Given the description of an element on the screen output the (x, y) to click on. 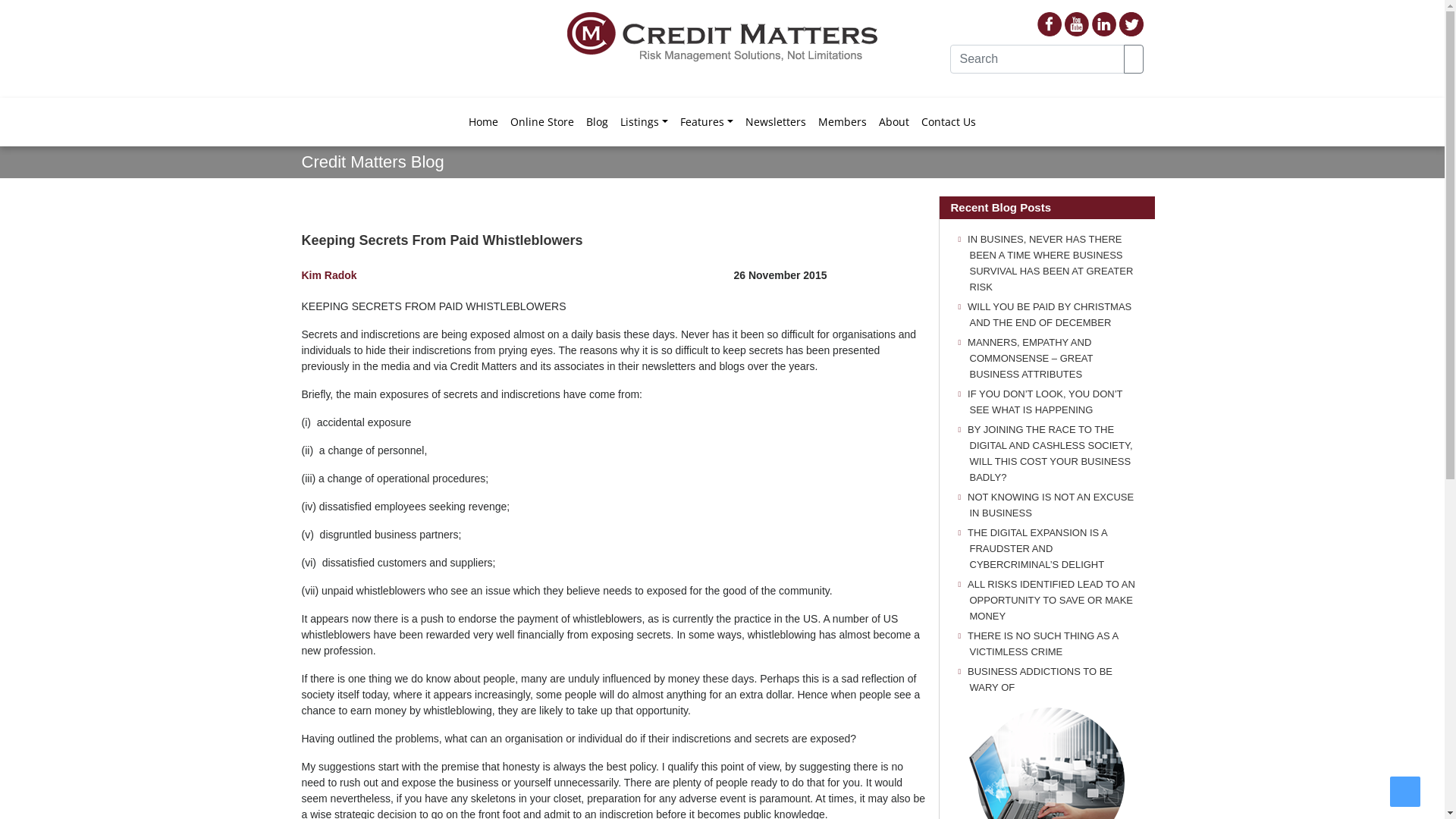
BUSINESS ADDICTIONS TO BE WARY OF Element type: text (1039, 679)
Blog Element type: text (597, 121)
About Element type: text (893, 121)
Newsletters Element type: text (775, 121)
THERE IS NO SUCH THING AS A VICTIMLESS CRIME Element type: text (1042, 643)
WILL YOU BE PAID BY CHRISTMAS AND THE END OF DECEMBER Element type: text (1049, 314)
Contact Us Element type: text (948, 121)
Members Element type: text (842, 121)
Online Store Element type: text (542, 121)
Features Element type: text (706, 121)
Listings Element type: text (644, 121)
Home Element type: text (483, 121)
NOT KNOWING IS NOT AN EXCUSE IN BUSINESS Element type: text (1050, 504)
